Given the description of an element on the screen output the (x, y) to click on. 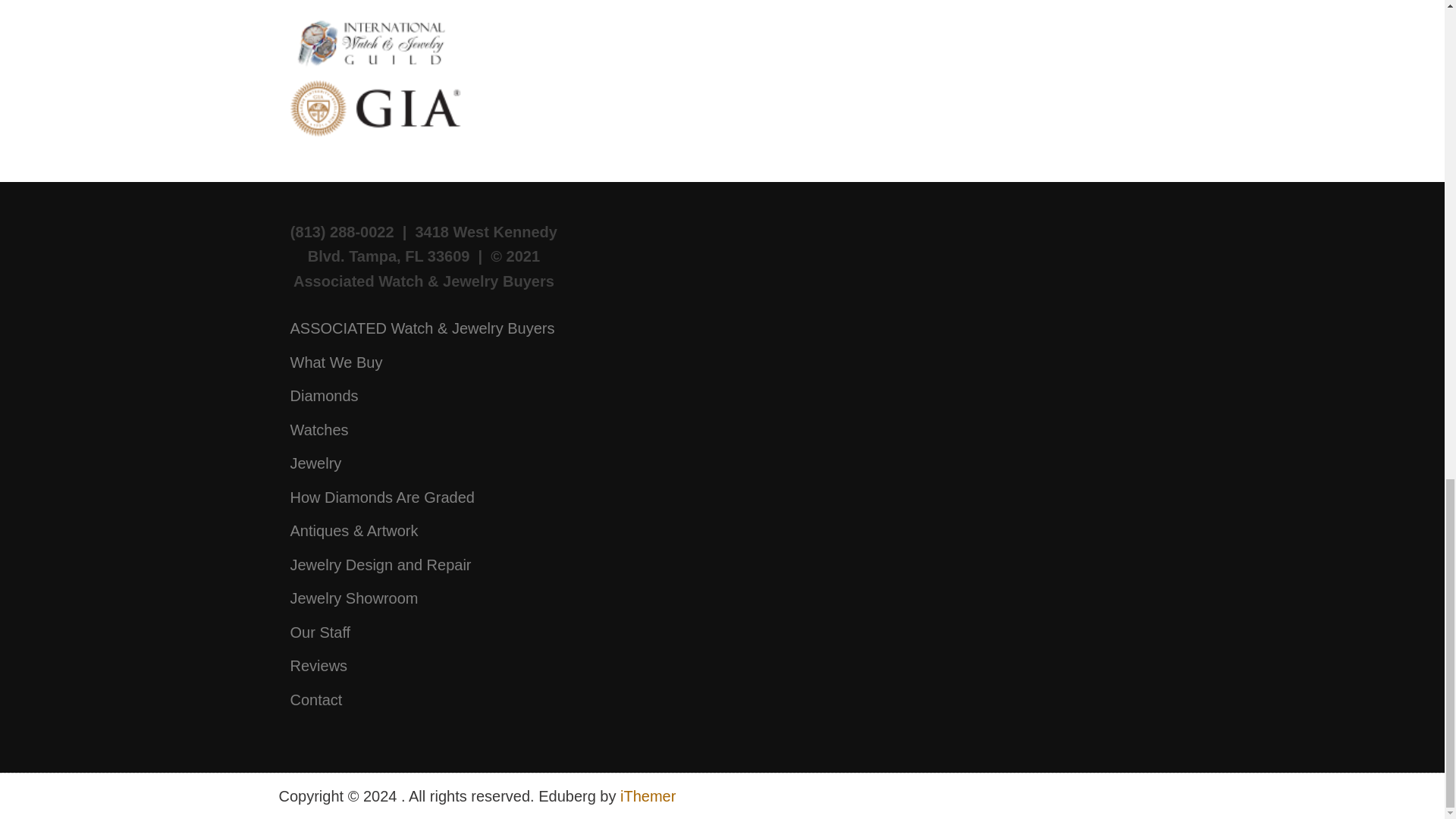
Jewelry Showroom (353, 597)
How Diamonds Are Graded (381, 497)
Jewelry (314, 463)
Diamonds (323, 395)
What We Buy (335, 362)
Our Staff (319, 632)
Watches (318, 429)
Jewelry Design and Repair (379, 564)
